Given the description of an element on the screen output the (x, y) to click on. 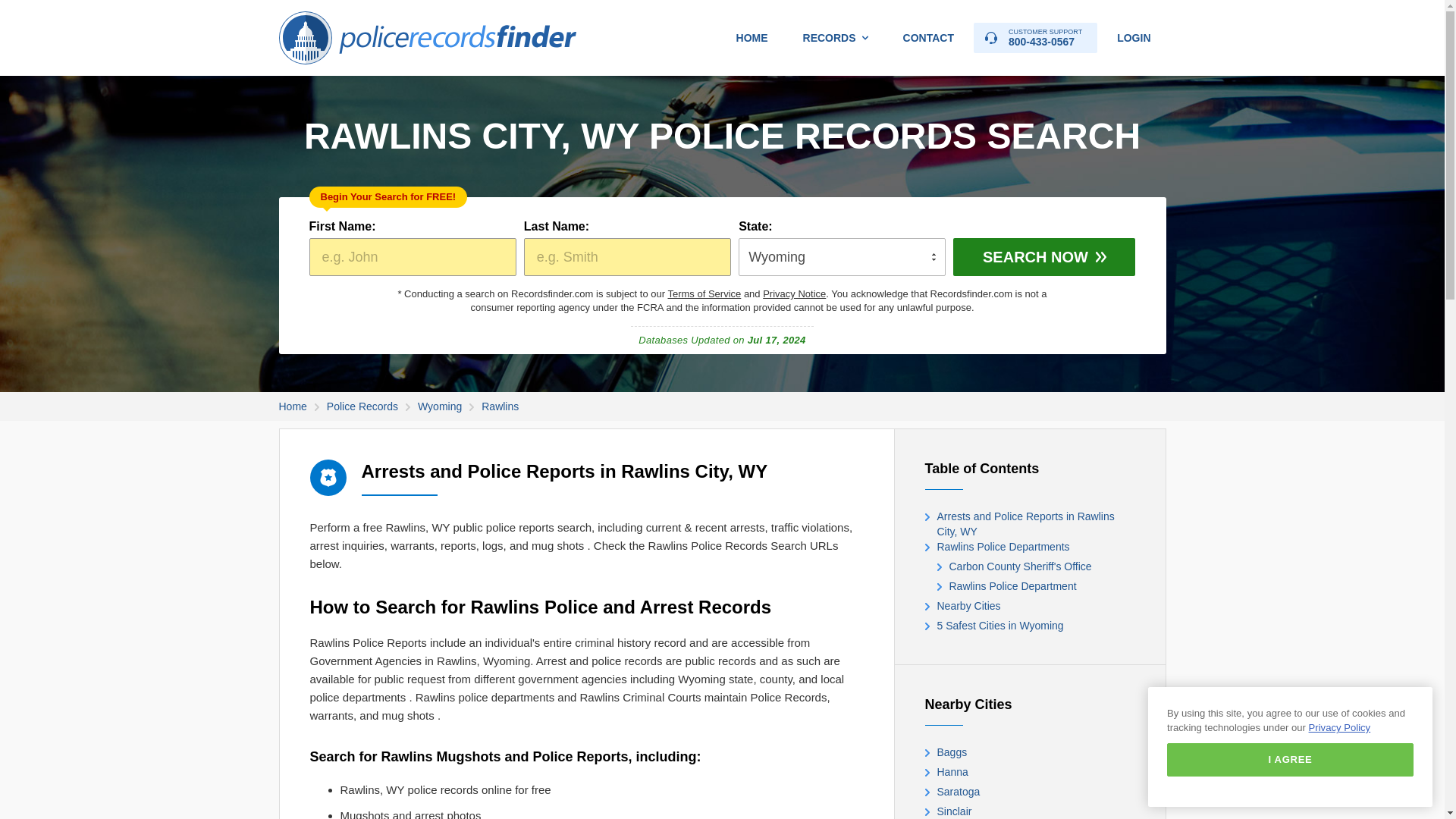
HOME (751, 37)
RECORDS (835, 37)
